Given the description of an element on the screen output the (x, y) to click on. 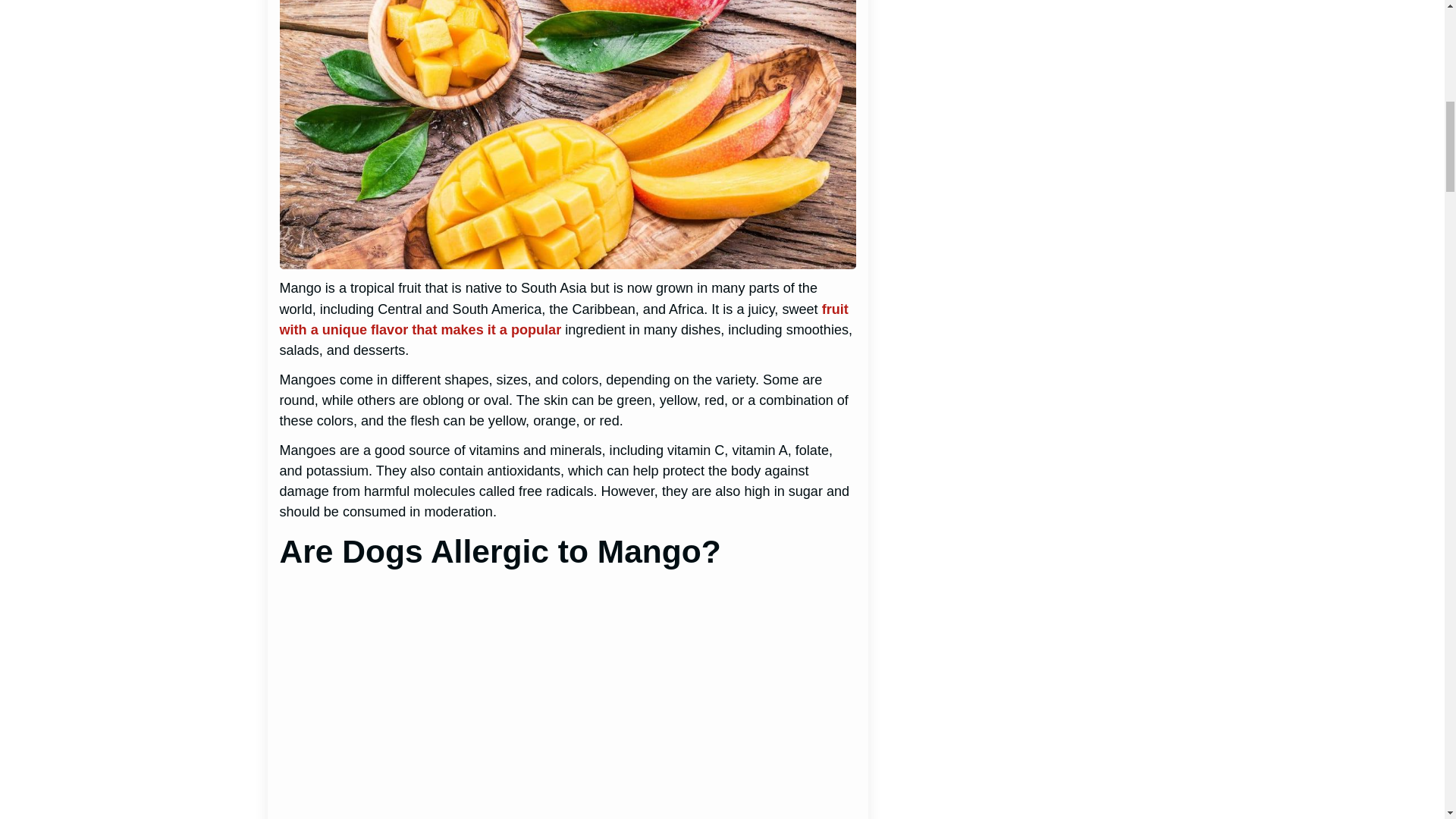
fruit with a unique flavor that makes it a popular (563, 319)
